Given the description of an element on the screen output the (x, y) to click on. 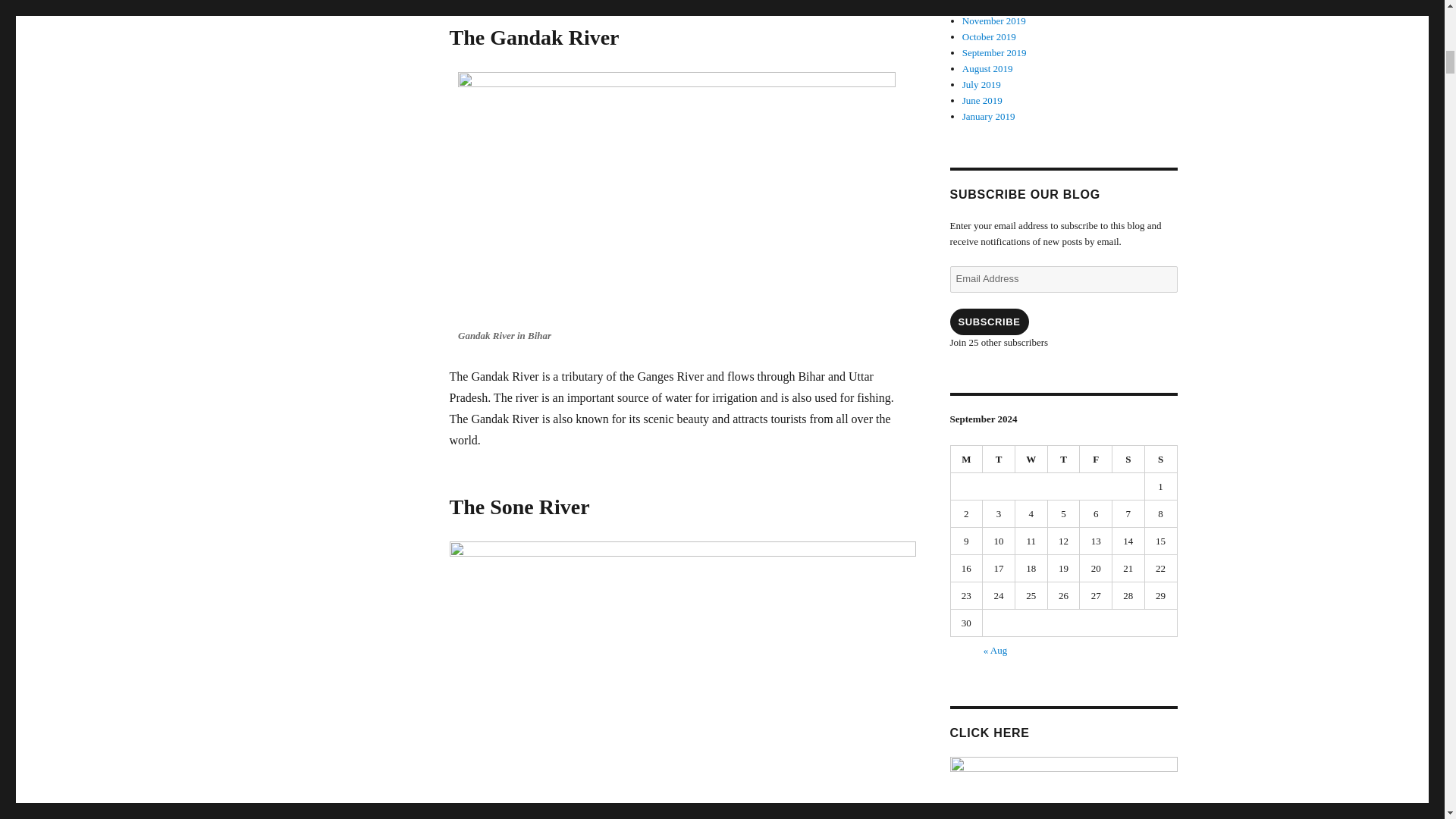
Saturday (1128, 459)
Friday (1096, 459)
Monday (967, 459)
Tuesday (998, 459)
Wednesday (1031, 459)
Thursday (1064, 459)
Sunday (1160, 459)
